Given the description of an element on the screen output the (x, y) to click on. 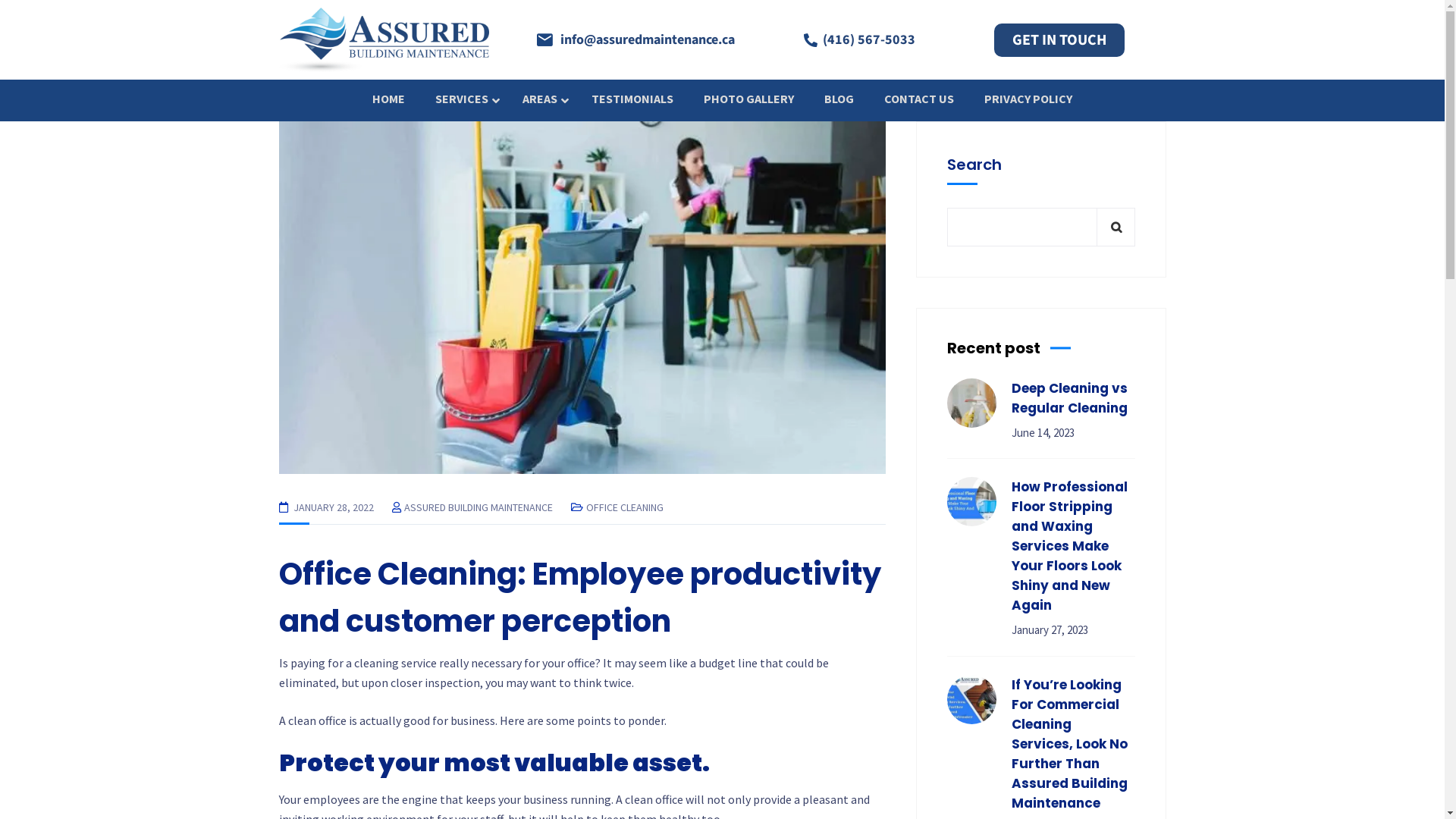
HOME Element type: text (388, 98)
Search Element type: text (1115, 226)
GET IN TOUCH Element type: text (1059, 39)
BLOG Element type: text (839, 98)
Deep Cleaning vs Regular Cleaning Element type: text (1073, 397)
(416) 567-5033 Element type: text (858, 39)
CONTACT US Element type: text (919, 98)
SERVICES Element type: text (463, 98)
ASSURED BUILDING MAINTENANCE Element type: text (477, 507)
AREAS Element type: text (541, 98)
TESTIMONIALS Element type: text (632, 98)
info@assuredmaintenance.ca Element type: text (633, 39)
PRIVACY POLICY Element type: text (1028, 98)
OFFICE CLEANING Element type: text (623, 507)
PHOTO GALLERY Element type: text (748, 98)
